Given the description of an element on the screen output the (x, y) to click on. 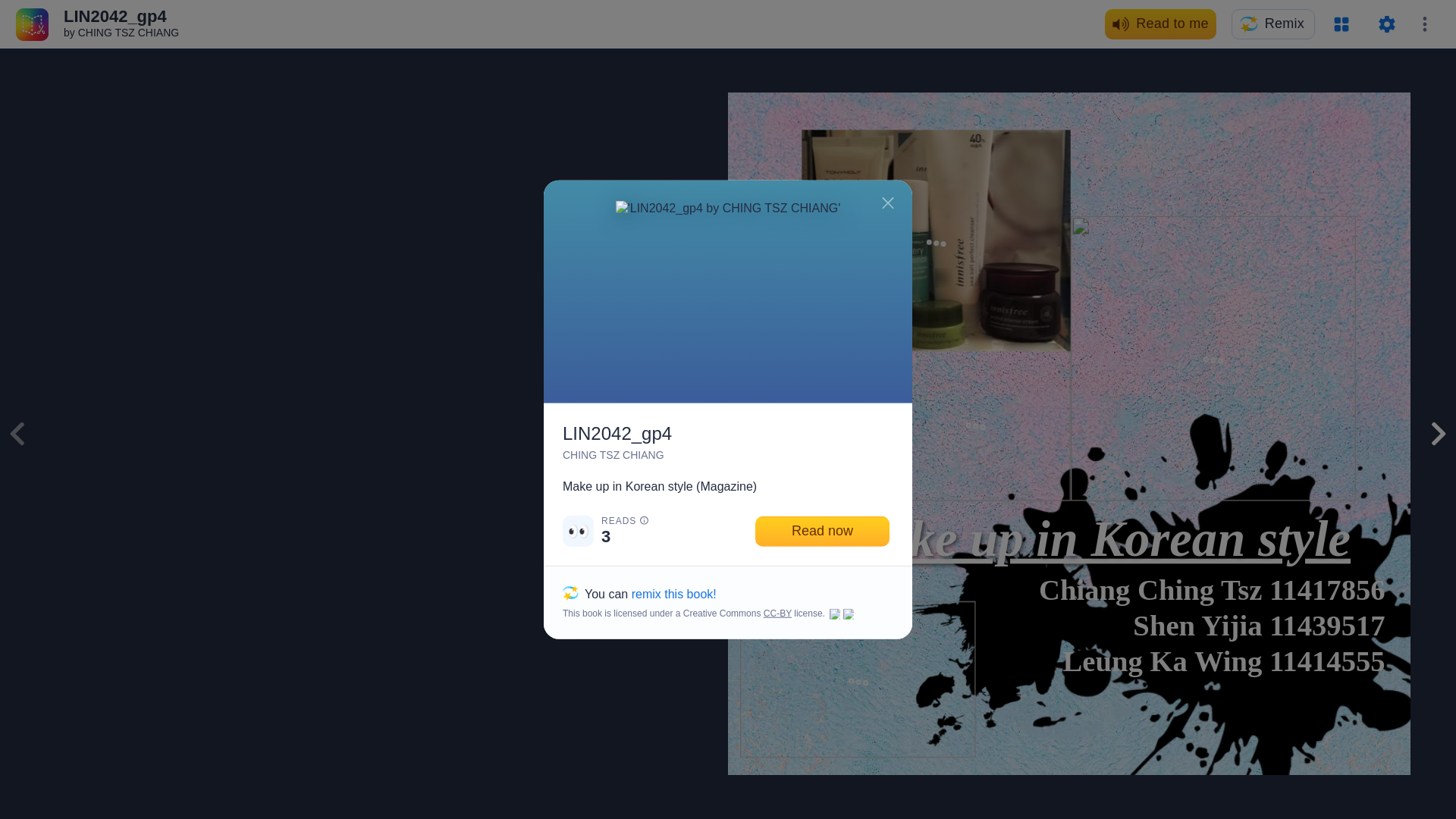
Read to me (1160, 24)
Go to Book Creator website (32, 23)
Menu (1424, 24)
Remix (1272, 24)
Read now (822, 530)
Book Creator (32, 23)
CC-BY (777, 613)
Remix (1272, 24)
Pages (1341, 24)
remix this book! (673, 593)
Settings (1386, 24)
